Given the description of an element on the screen output the (x, y) to click on. 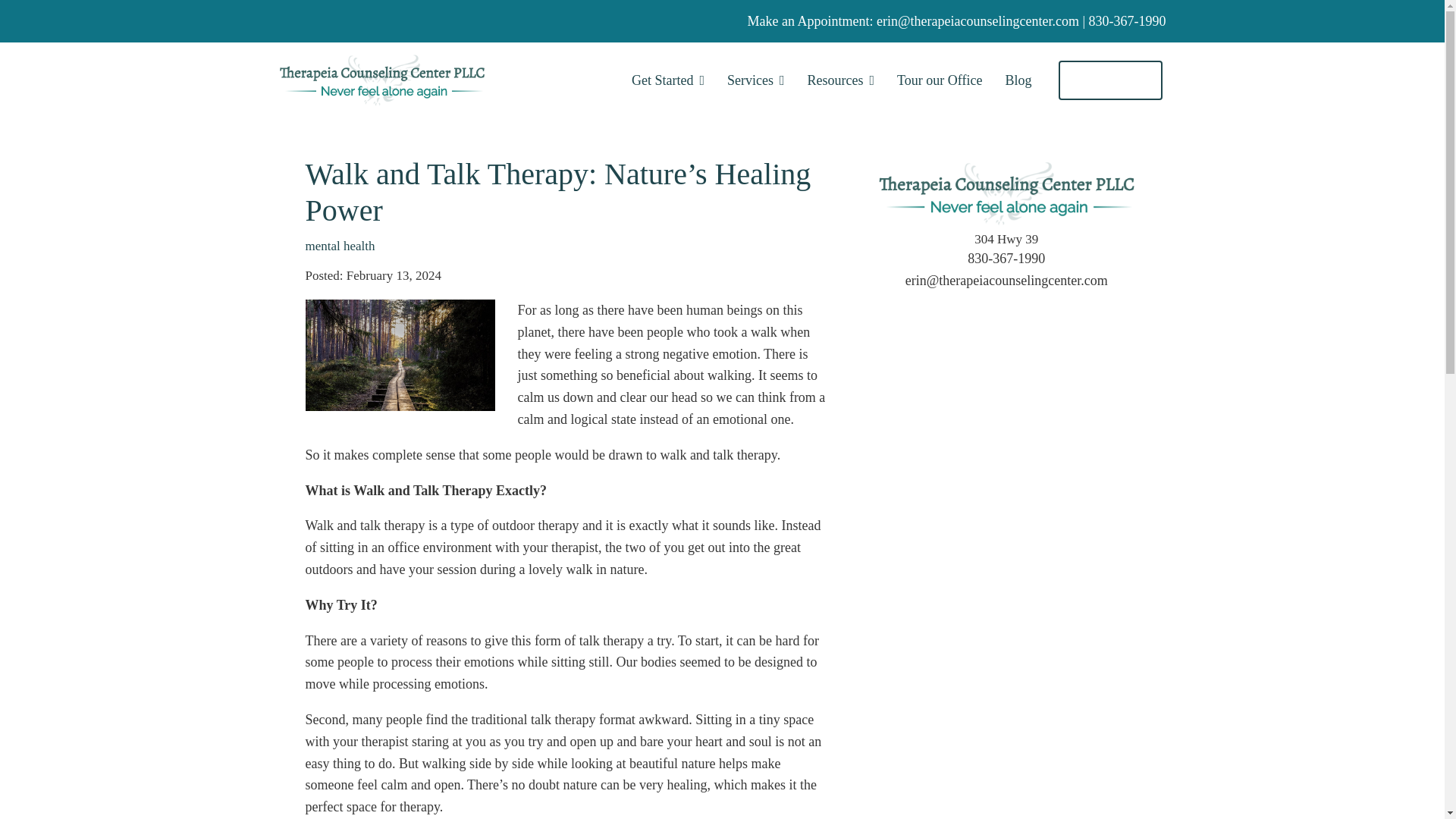
Get Started (667, 80)
Contact (1109, 79)
830-367-1990 (1127, 20)
Resources (841, 80)
Blog (1017, 80)
Tour our Office (938, 80)
Services (755, 80)
